Given the description of an element on the screen output the (x, y) to click on. 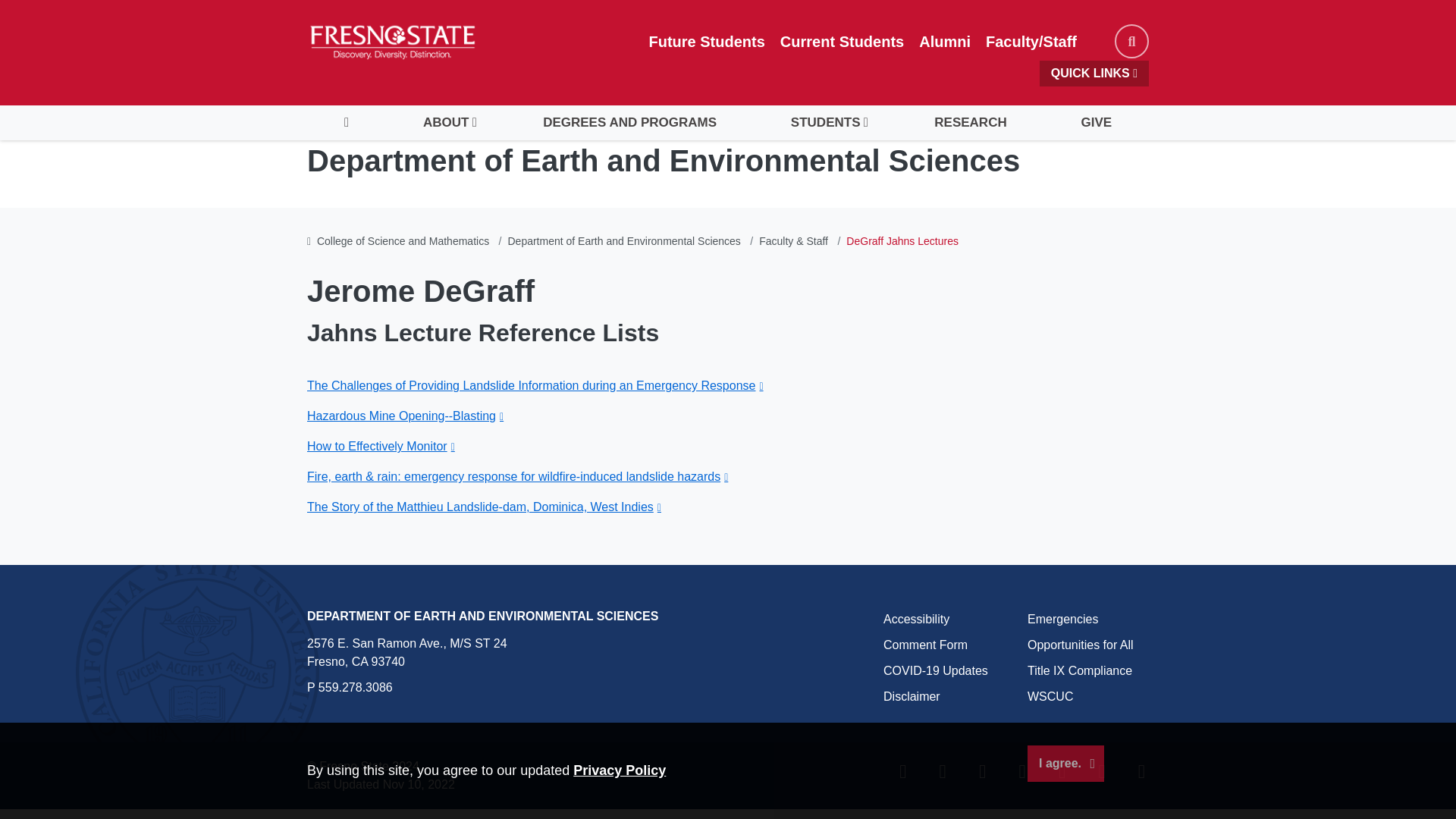
QUICK LINKS (1093, 73)
Privacy Policy (619, 770)
Quick Links (1093, 73)
Future Students (707, 41)
DEGREES AND PROGRAMS (629, 122)
I agree. (1065, 763)
HOME (346, 122)
Current Students (842, 41)
ABOUT (445, 122)
